Given the description of an element on the screen output the (x, y) to click on. 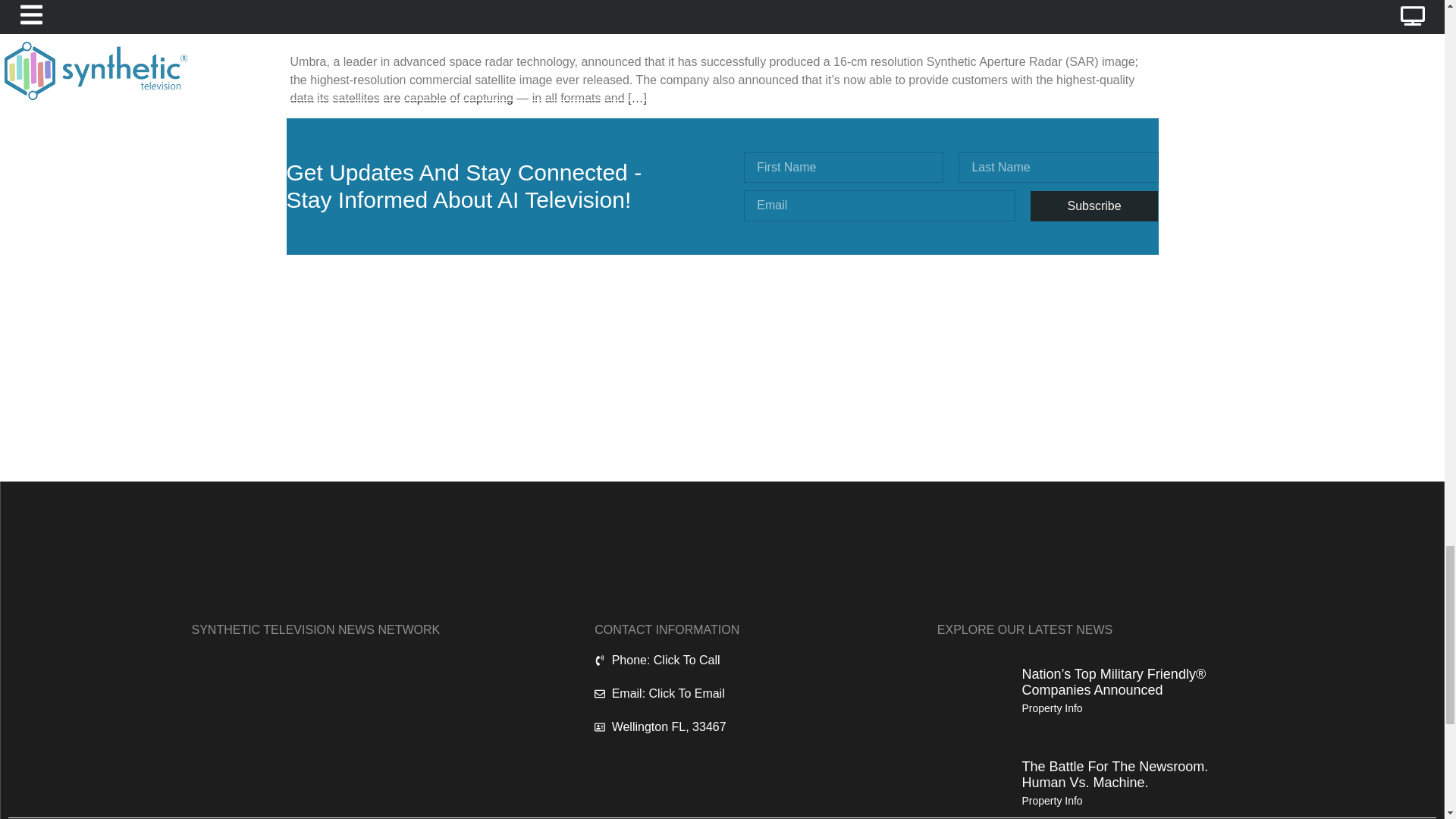
Property Info (1051, 707)
The Battle For The Newsroom. Human Vs. Machine. (1115, 775)
Phone: Click To Call (727, 660)
Subscribe (1094, 205)
Email: Click To Email (727, 693)
Property Info (1051, 800)
